Given the description of an element on the screen output the (x, y) to click on. 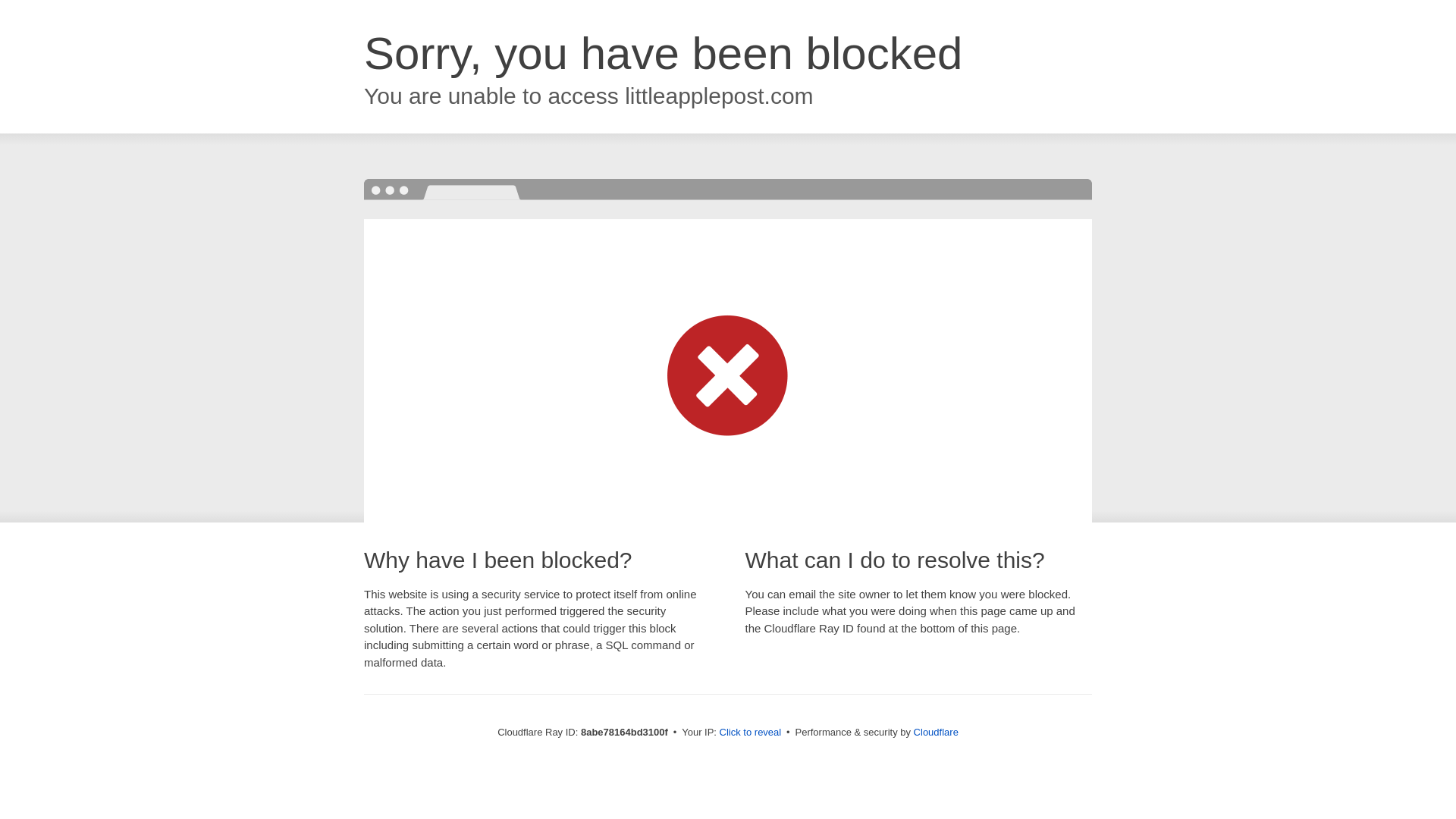
Cloudflare (936, 731)
Click to reveal (750, 732)
